Given the description of an element on the screen output the (x, y) to click on. 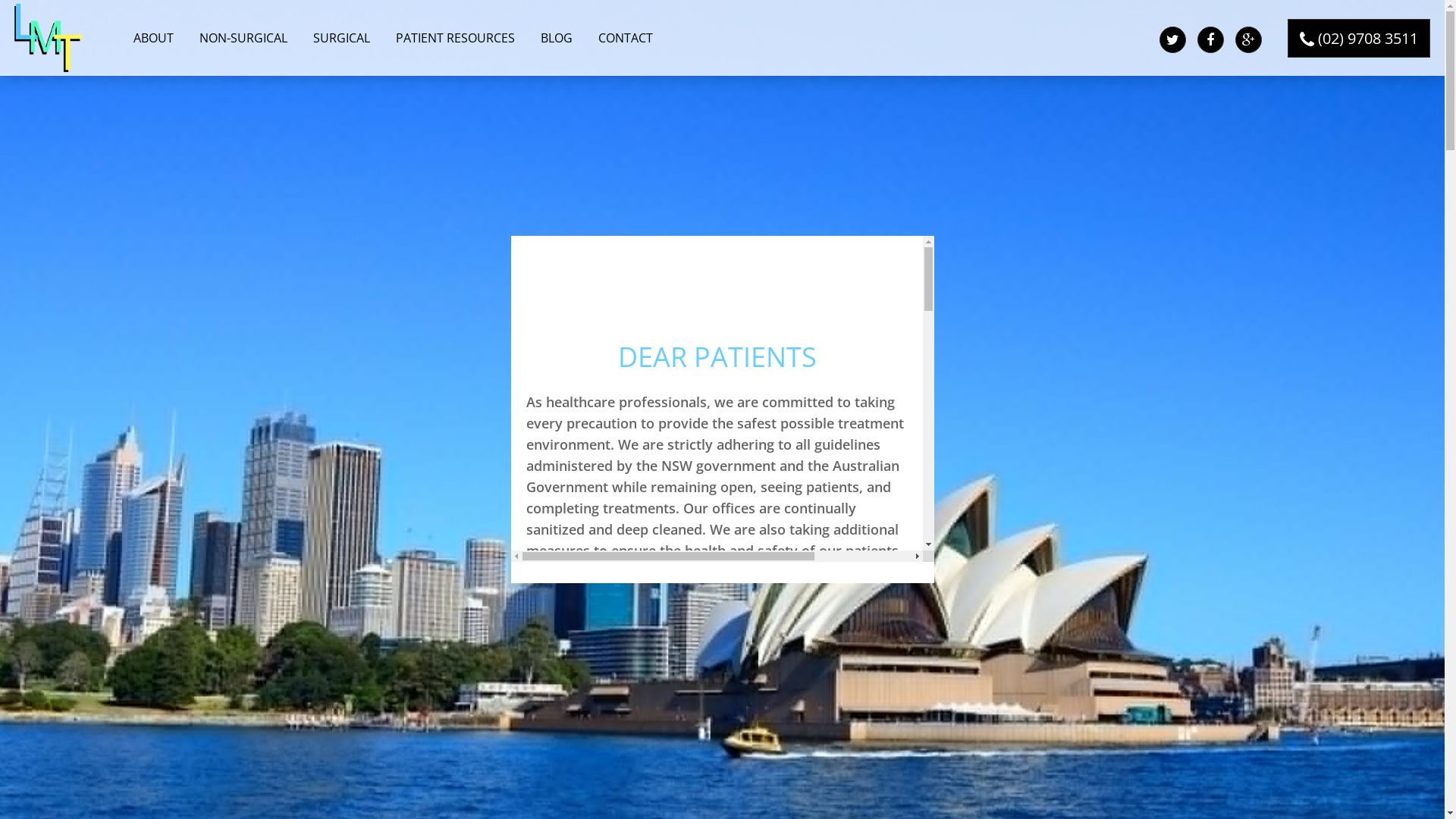
BLOG Element type: text (556, 37)
(02) 9708 3511 Element type: text (1358, 37)
NON-SURGICAL Element type: text (243, 37)
CONTACT Element type: text (625, 37)
facebook Element type: hover (1210, 39)
Dr Leana Teston Element type: hover (47, 36)
SURGICAL Element type: text (341, 37)
Close Element type: text (924, 573)
PATIENT RESOURCES Element type: text (454, 37)
google-plus Element type: hover (1248, 39)
ABOUT Element type: text (153, 37)
twitter Element type: hover (1172, 39)
